Given the description of an element on the screen output the (x, y) to click on. 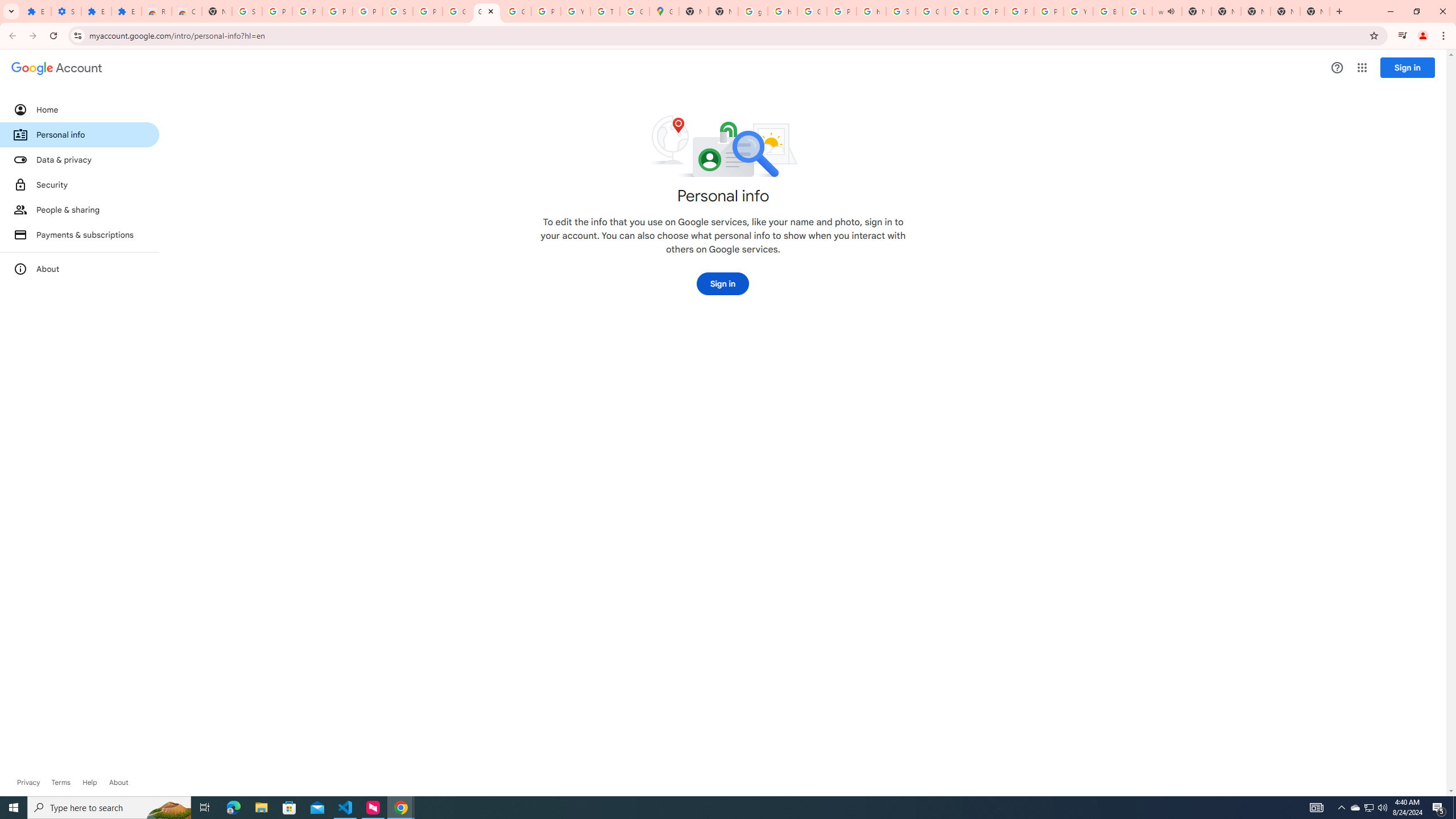
Extensions (126, 11)
Data & privacy (79, 159)
New Tab (1314, 11)
Security (79, 184)
Privacy Help Center - Policies Help (1018, 11)
New Tab (723, 11)
